Given the description of an element on the screen output the (x, y) to click on. 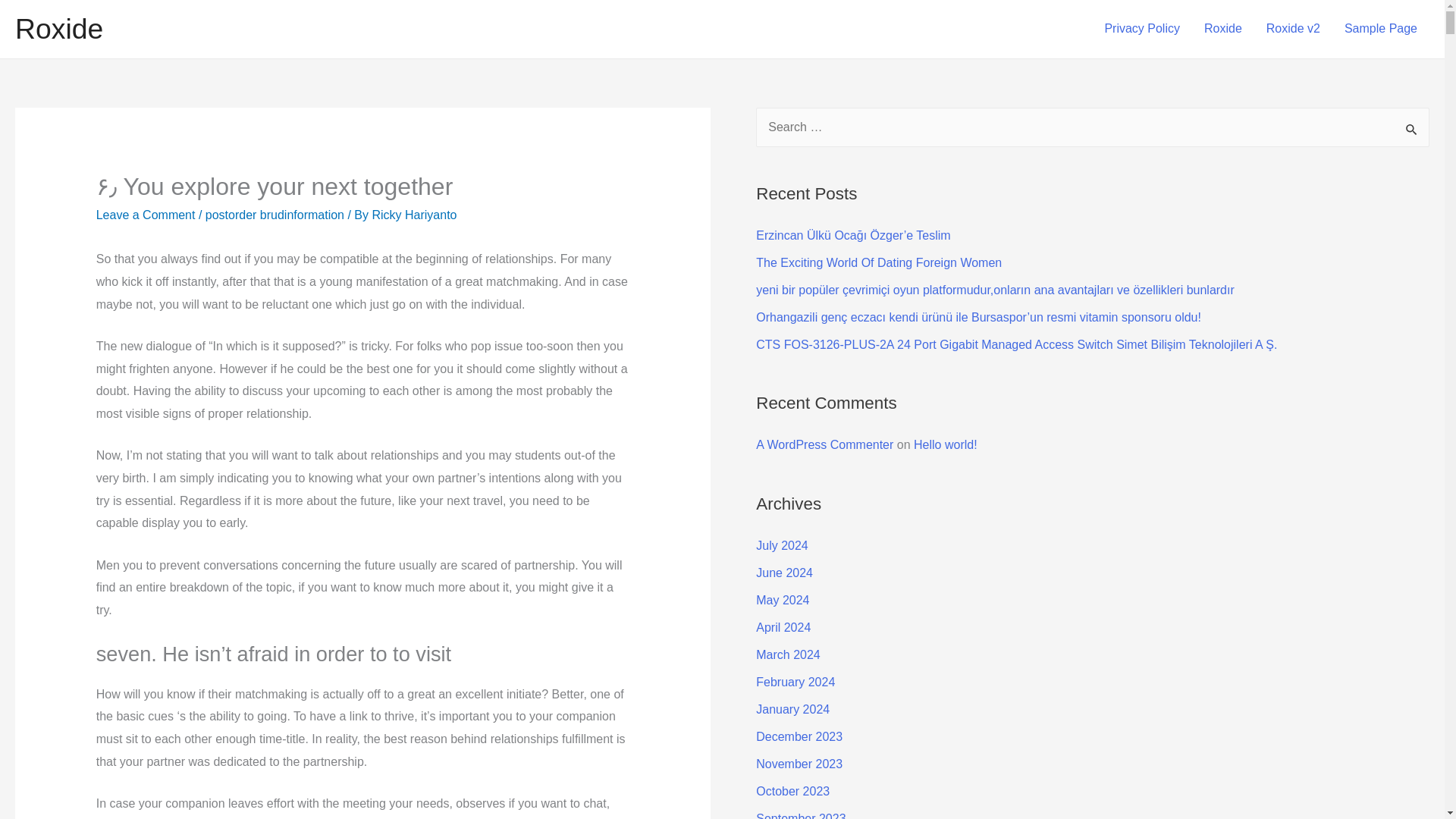
July 2024 (781, 545)
March 2024 (788, 654)
Privacy Policy (1142, 28)
October 2023 (792, 790)
Roxide (1222, 28)
View all posts by Ricky Hariyanto (414, 214)
September 2023 (800, 815)
November 2023 (799, 763)
Ricky Hariyanto (414, 214)
Leave a Comment (145, 214)
